Given the description of an element on the screen output the (x, y) to click on. 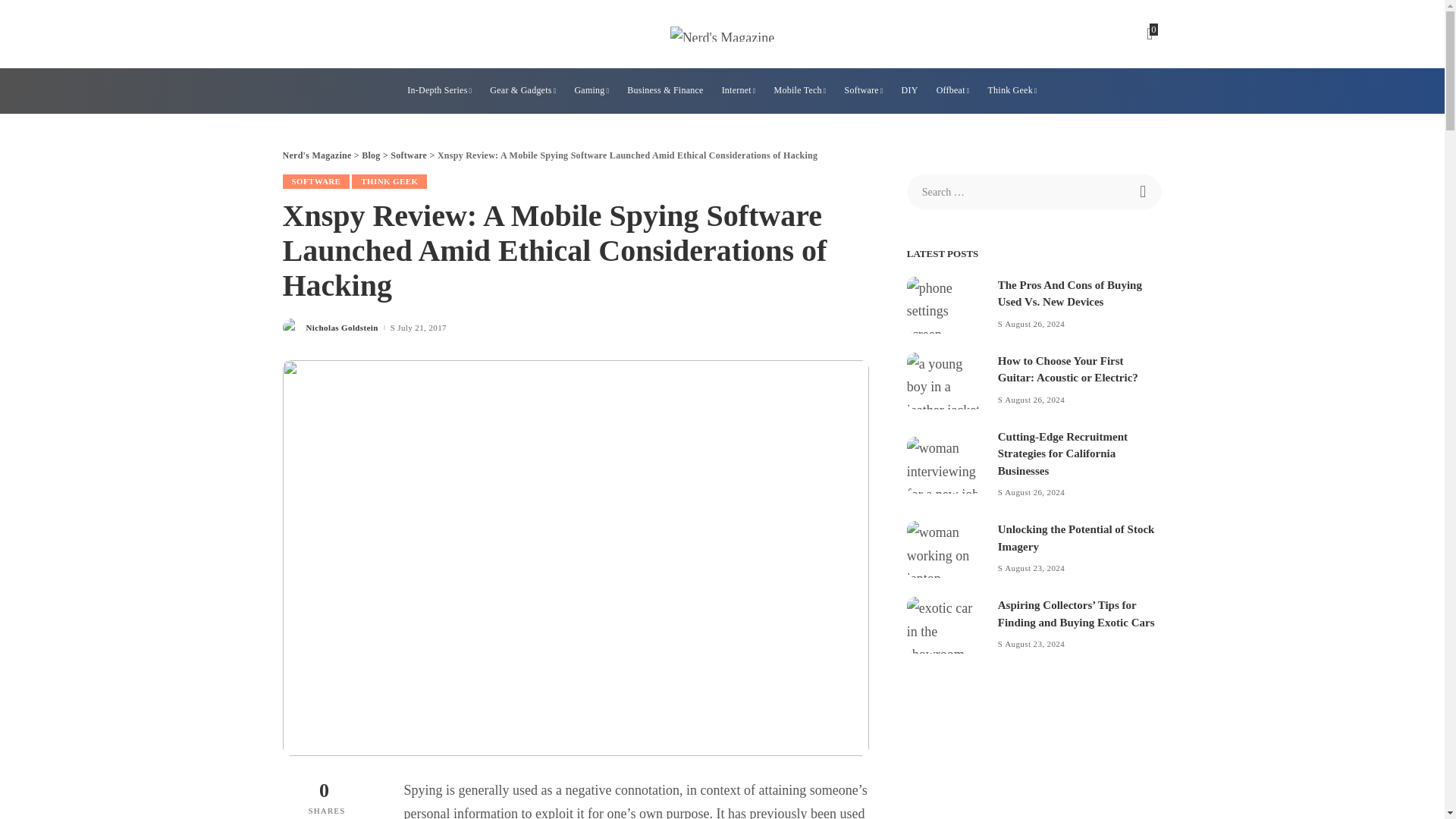
Go to Nerd's Magazine. (316, 154)
Go to the Software Category archives. (408, 154)
Search (1143, 191)
Search (1143, 191)
2017-07-21T10:46:42-05:00 (421, 327)
Nerd's Magazine (721, 33)
Gaming (590, 90)
Go to Blog. (370, 154)
In-Depth Series (438, 90)
